Given the description of an element on the screen output the (x, y) to click on. 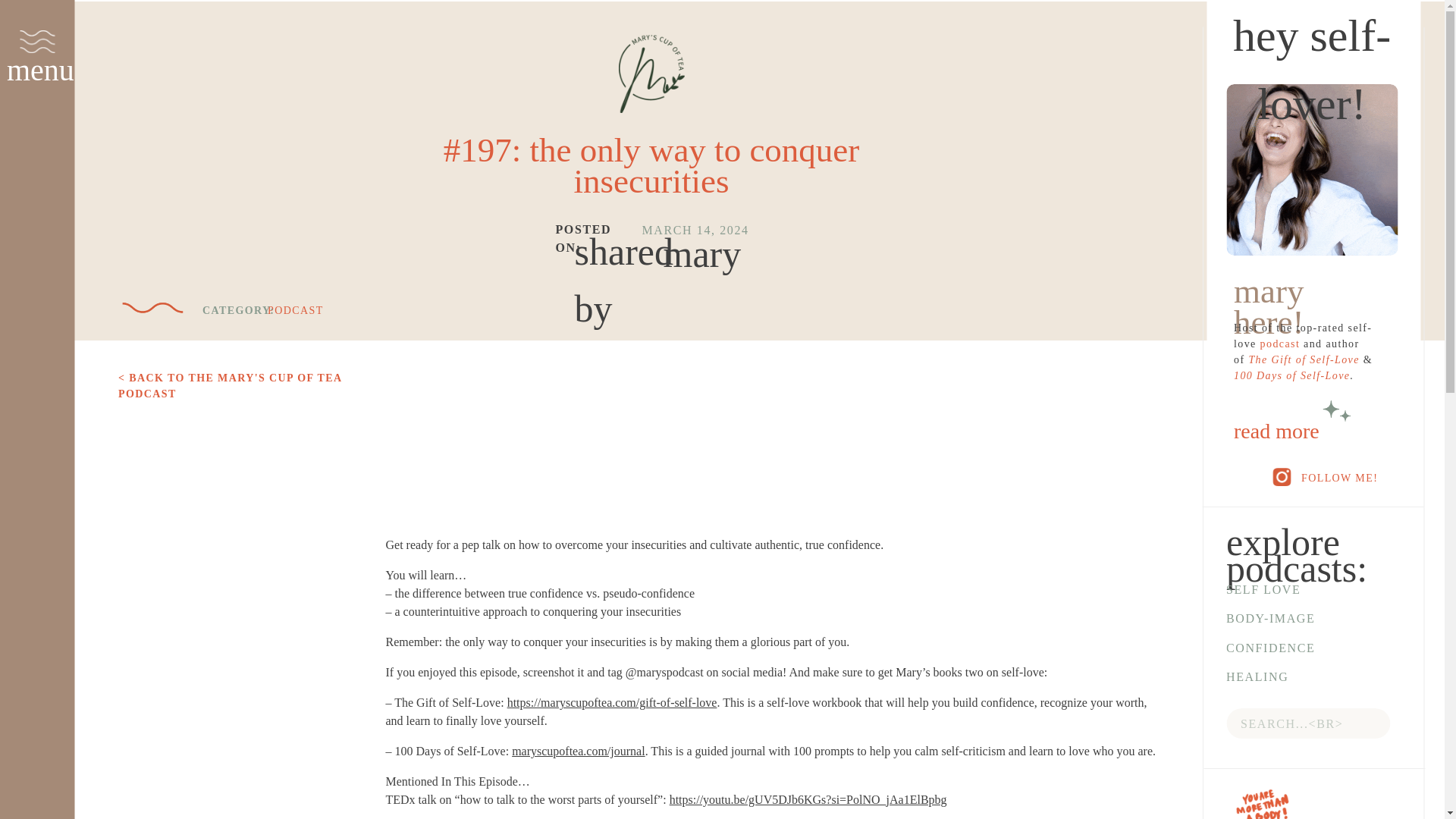
menu (38, 71)
SELF LOVE (1290, 590)
HEALING (1290, 678)
FOLLOW ME! (1350, 477)
The Gift of Self-Love (1302, 359)
100 Days of Self-Love (1291, 375)
BODY-IMAGE (1290, 619)
CONFIDENCE (1290, 649)
podcast (1280, 343)
read more (1312, 440)
